Given the description of an element on the screen output the (x, y) to click on. 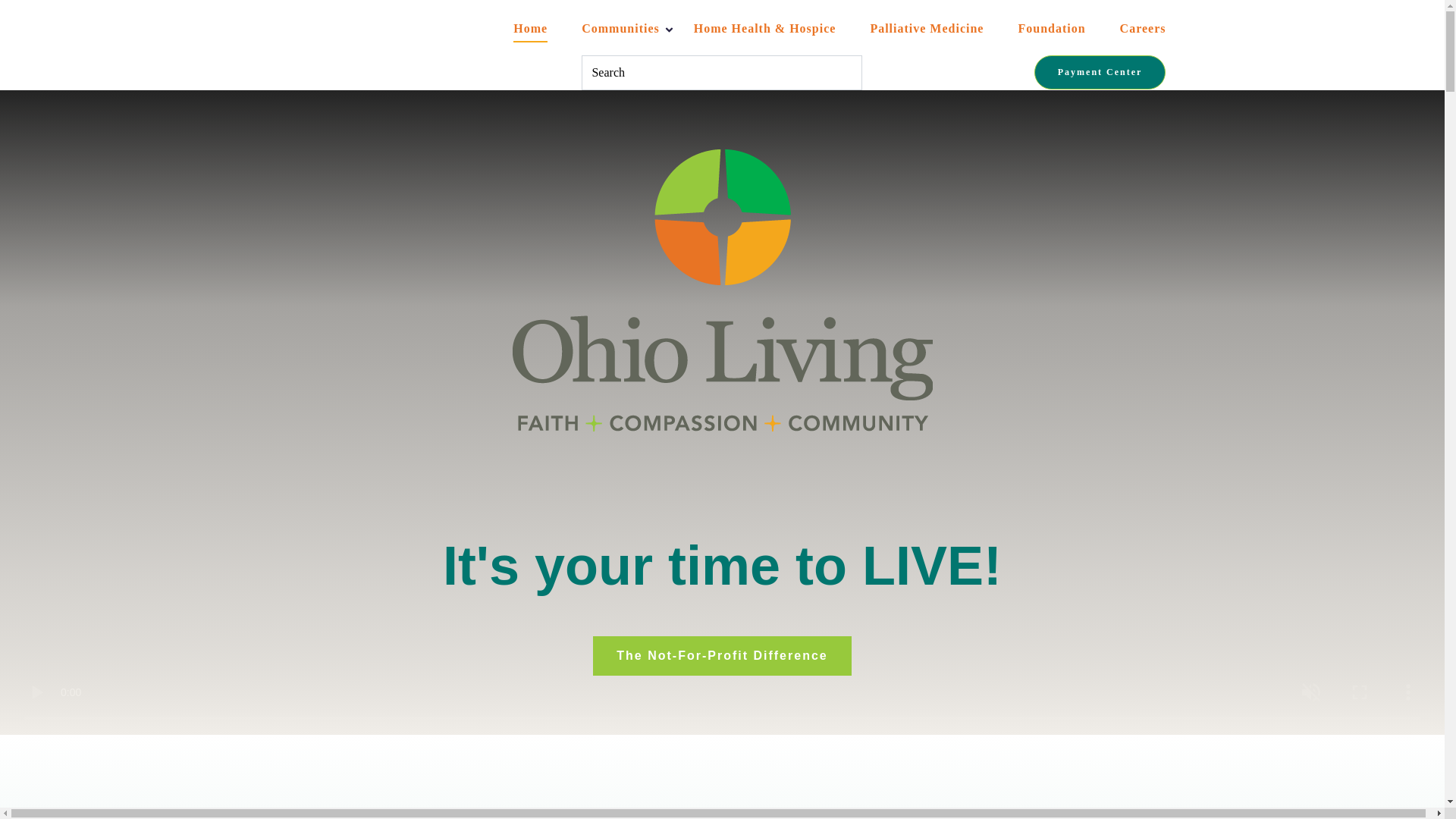
Foundation (1050, 28)
Palliative Medicine (926, 28)
Communities (619, 28)
Home (530, 28)
The Not-For-Profit Difference (721, 655)
Careers (1142, 28)
Payment Center (1099, 72)
